Given the description of an element on the screen output the (x, y) to click on. 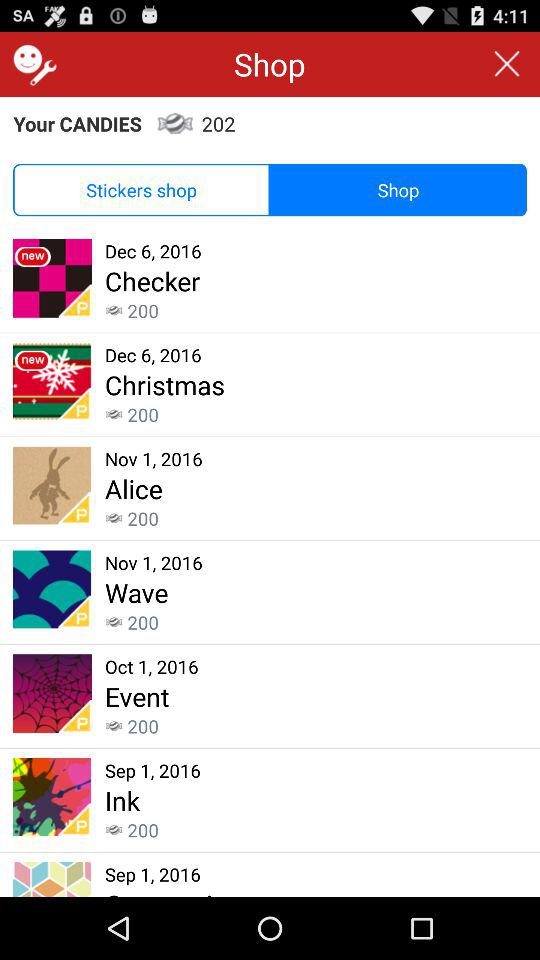
jump until the stickers shop item (141, 189)
